Given the description of an element on the screen output the (x, y) to click on. 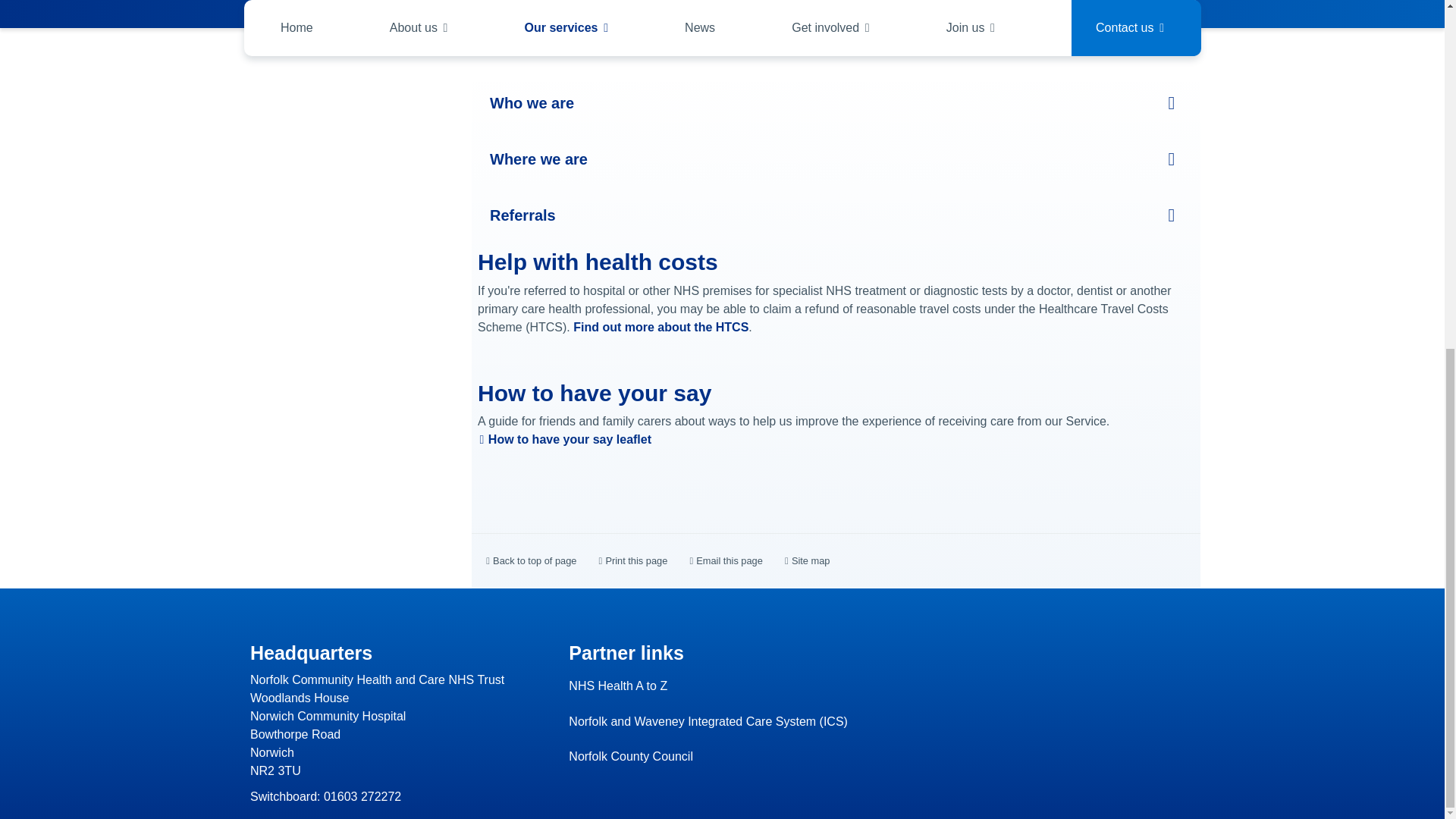
download this document in a new window (563, 439)
